Given the description of an element on the screen output the (x, y) to click on. 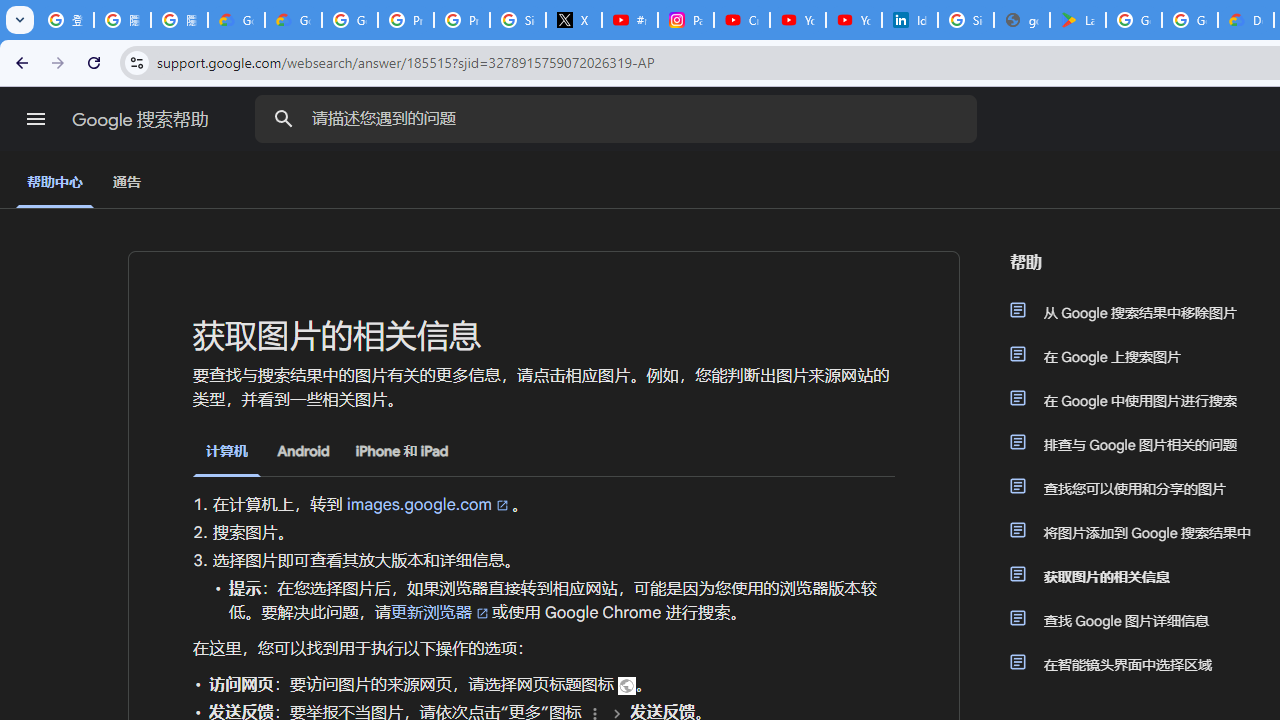
Google Cloud Privacy Notice (235, 20)
Sign in - Google Accounts (966, 20)
google_privacy_policy_en.pdf (1021, 20)
